Given the description of an element on the screen output the (x, y) to click on. 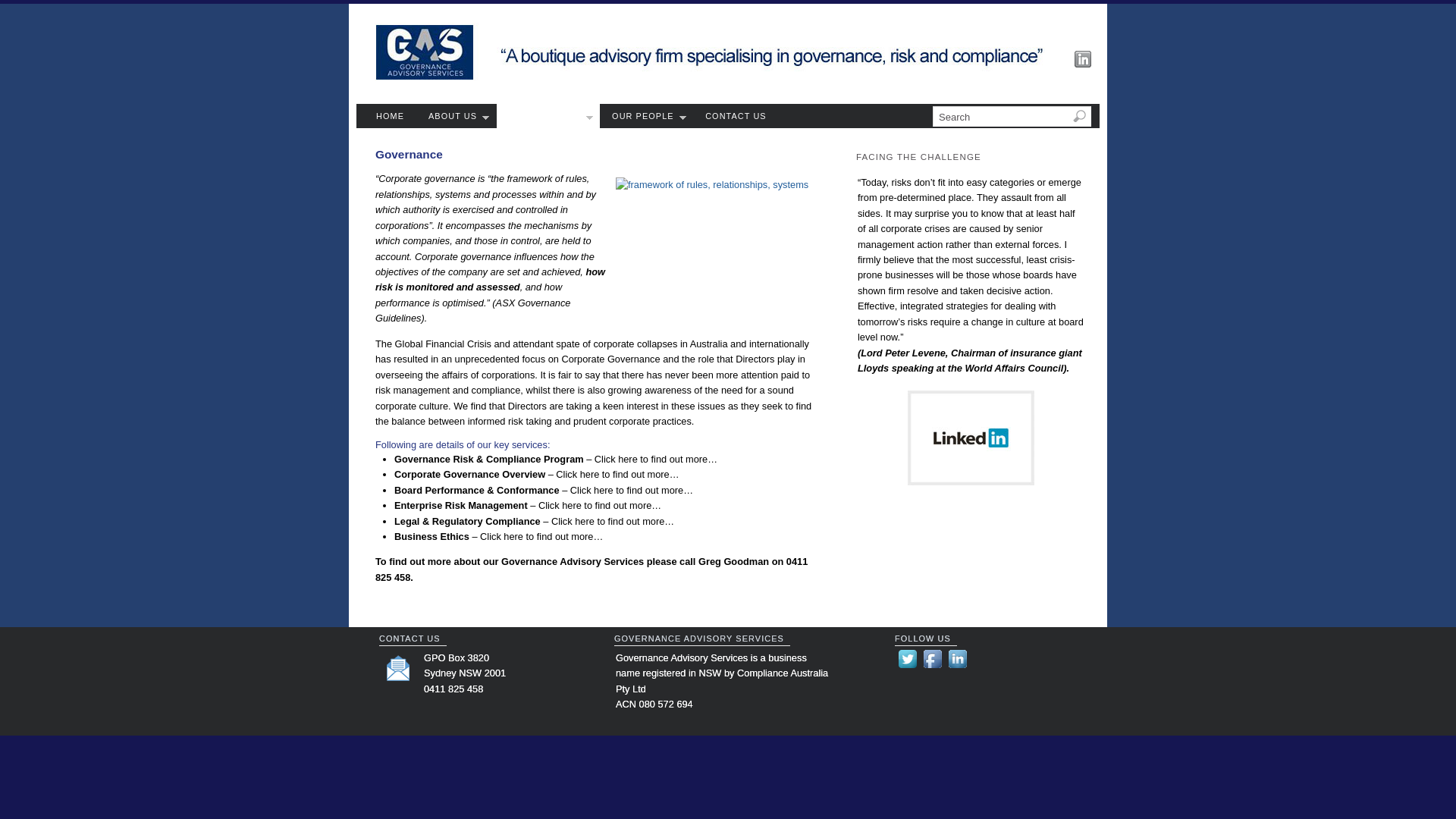
OUR SERVICES Element type: text (548, 115)
ABOUT US Element type: text (456, 115)
OUR PEOPLE Element type: text (646, 115)
systems Element type: hover (717, 246)
Visit Us On Linkedin Element type: hover (956, 667)
Visit Us On Facebook Element type: hover (931, 667)
Visit Us On Twitter Element type: hover (906, 667)
HOME Element type: text (390, 115)
CONTACT US Element type: text (735, 115)
